Given the description of an element on the screen output the (x, y) to click on. 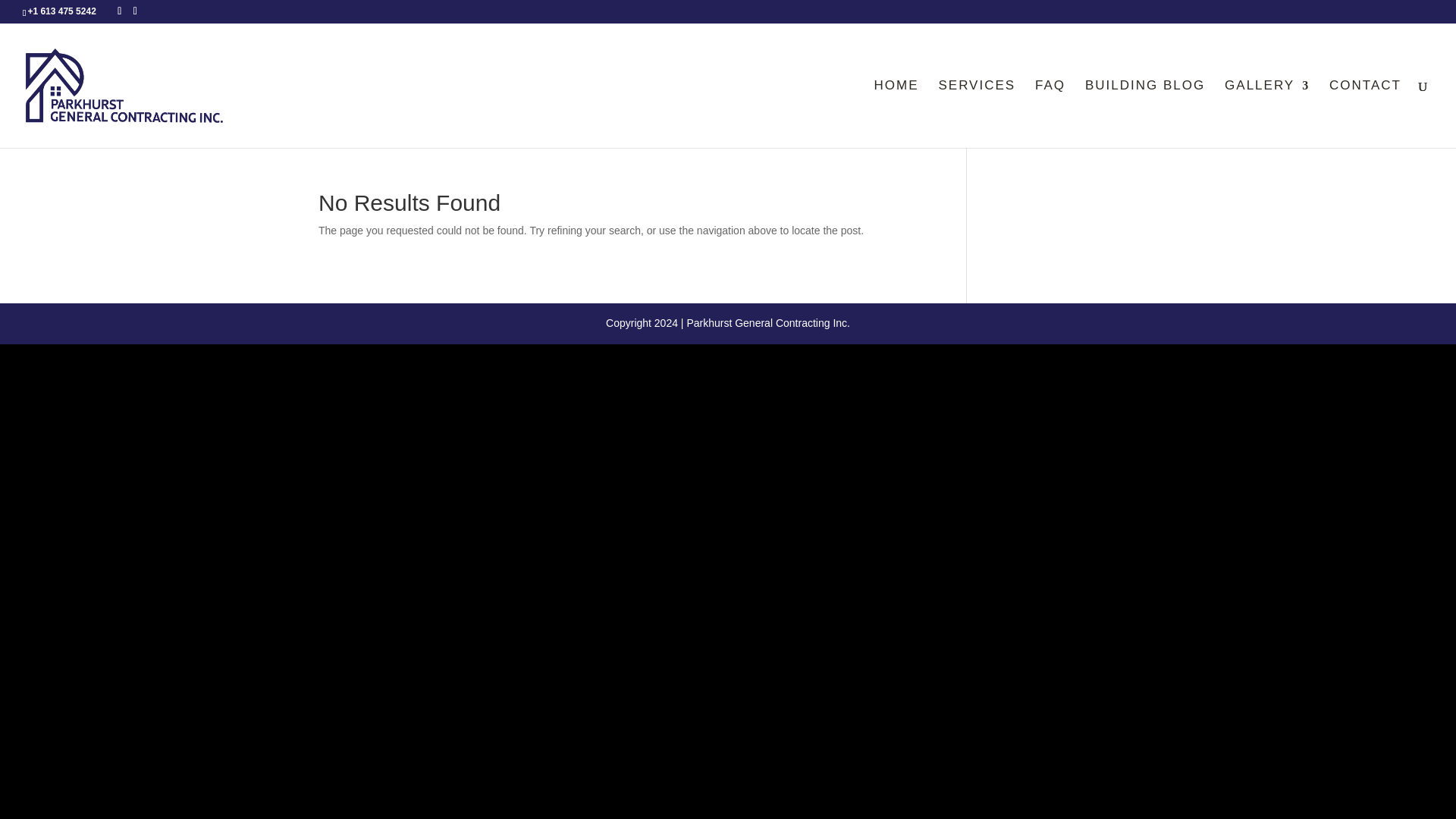
SERVICES (975, 114)
GALLERY (1266, 114)
BUILDING BLOG (1144, 114)
CONTACT (1364, 114)
